Given the description of an element on the screen output the (x, y) to click on. 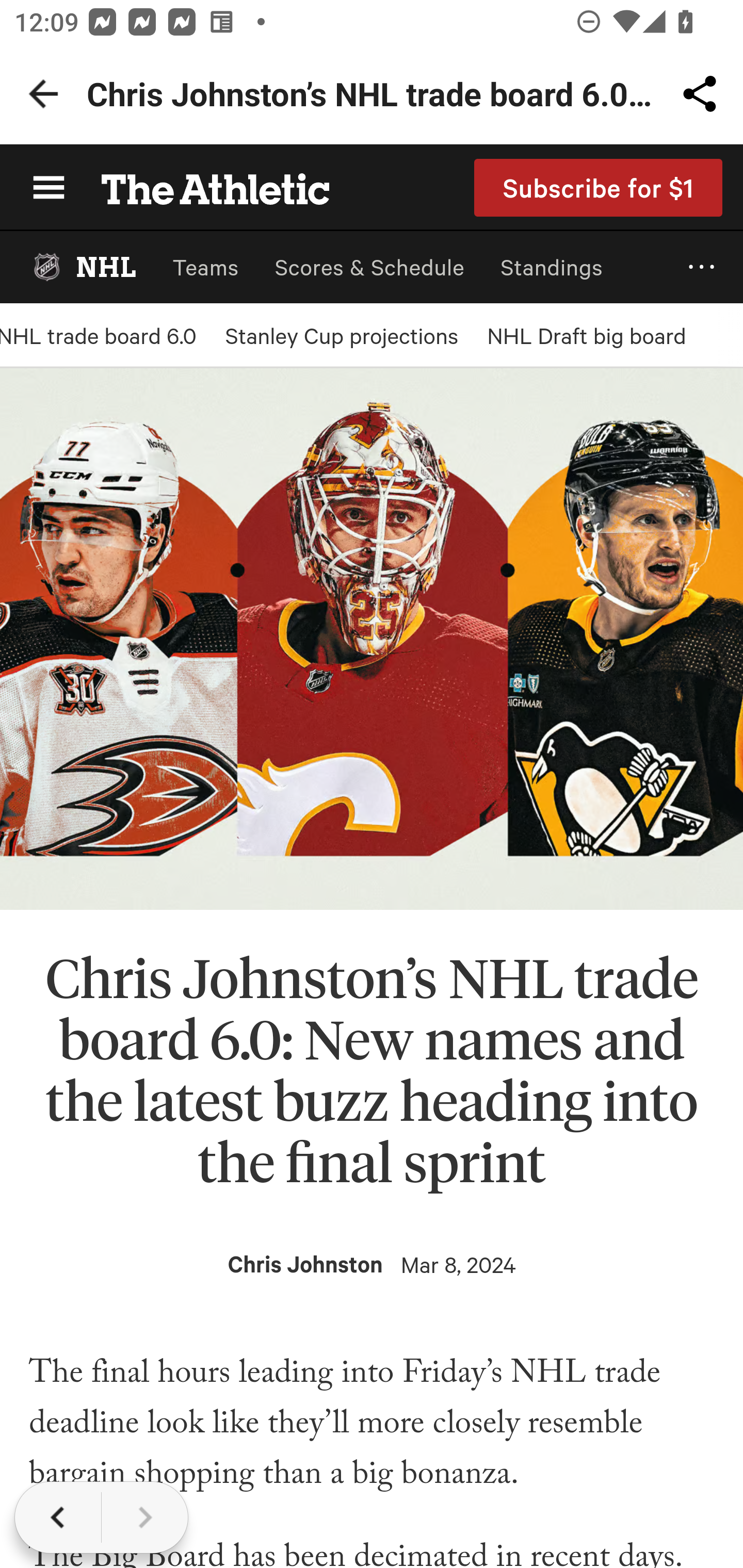
The Athletic (204, 187)
Subscribe for $1 (598, 187)
NHL NHL NHL NHL (82, 267)
Teams (205, 267)
Scores & Schedule (369, 267)
Standings (552, 267)
• • • (701, 267)
NHL trade board 6.0 (98, 335)
Stanley Cup projections (341, 335)
NHL Draft big board (586, 335)
Chris Johnston (305, 1264)
